Given the description of an element on the screen output the (x, y) to click on. 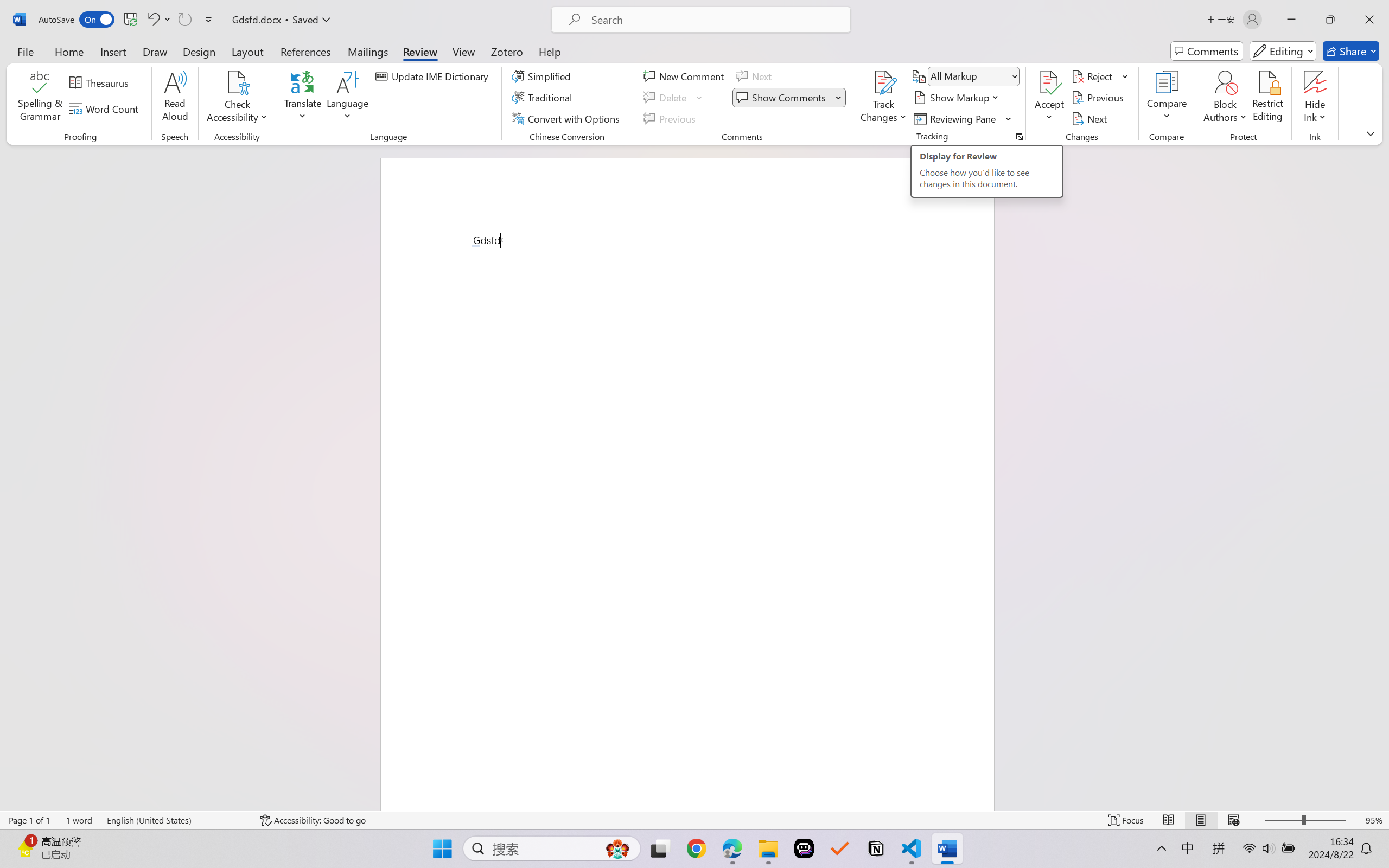
Accept and Move to Next (1049, 81)
Class: NetUIScrollBar (1382, 477)
Page 1 content (687, 521)
Word Count (105, 108)
Language (347, 97)
Undo AutoCorrect (158, 19)
Previous (1099, 97)
Check Accessibility (237, 97)
Spelling & Grammar (39, 97)
Open (1014, 76)
Hide Ink (1315, 81)
